Given the description of an element on the screen output the (x, y) to click on. 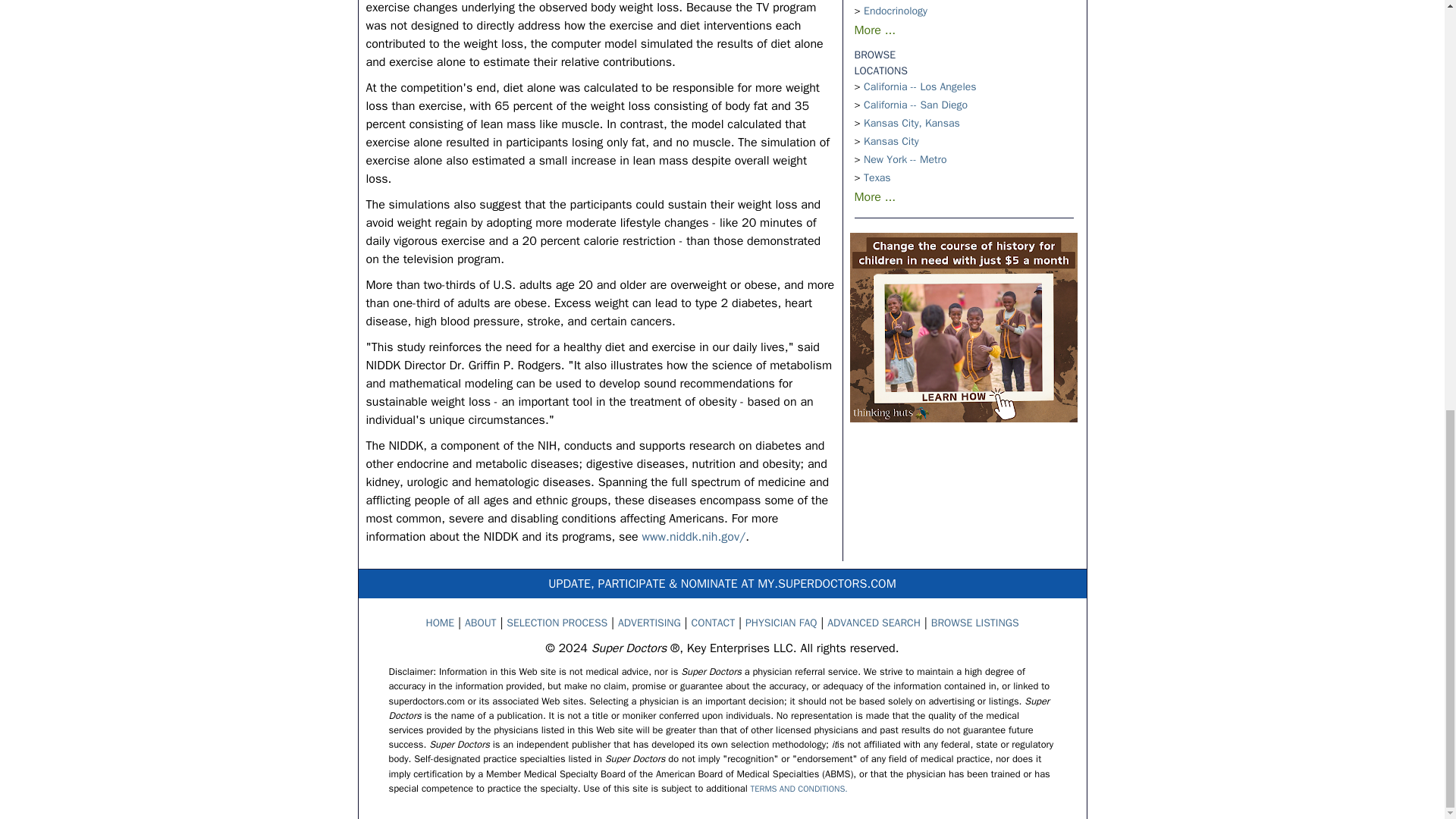
Selection Process (556, 622)
Kansas City, Kansas (911, 123)
California -- Los Angeles (919, 86)
Texas (877, 177)
Kansas City (890, 141)
3rd party ad content (963, 327)
CONTACT (713, 622)
More ... (874, 196)
About (480, 622)
Terms and Conditions (799, 787)
Contact (713, 622)
PHYSICIAN FAQ (780, 622)
New York -- Metro (904, 159)
Home (439, 622)
ADVANCED SEARCH (873, 622)
